Given the description of an element on the screen output the (x, y) to click on. 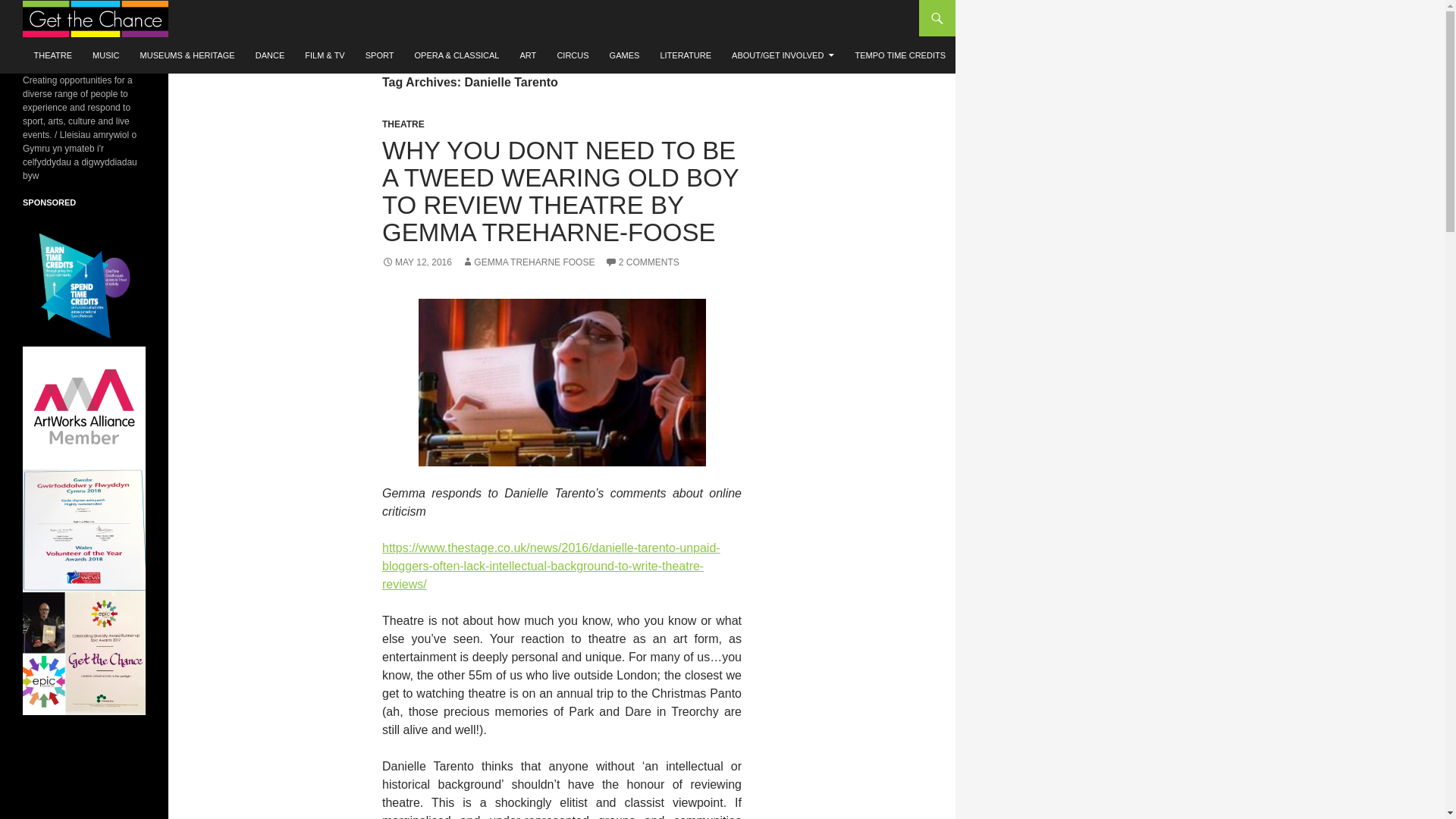
GAMES (624, 54)
TEMPO TIME CREDITS (900, 54)
GEMMA TREHARNE FOOSE (527, 262)
ART (528, 54)
THEATRE (52, 54)
DANCE (270, 54)
THEATRE (403, 123)
LITERATURE (685, 54)
MAY 12, 2016 (416, 262)
SPORT (379, 54)
CIRCUS (571, 54)
MUSIC (105, 54)
2 COMMENTS (642, 262)
